Given the description of an element on the screen output the (x, y) to click on. 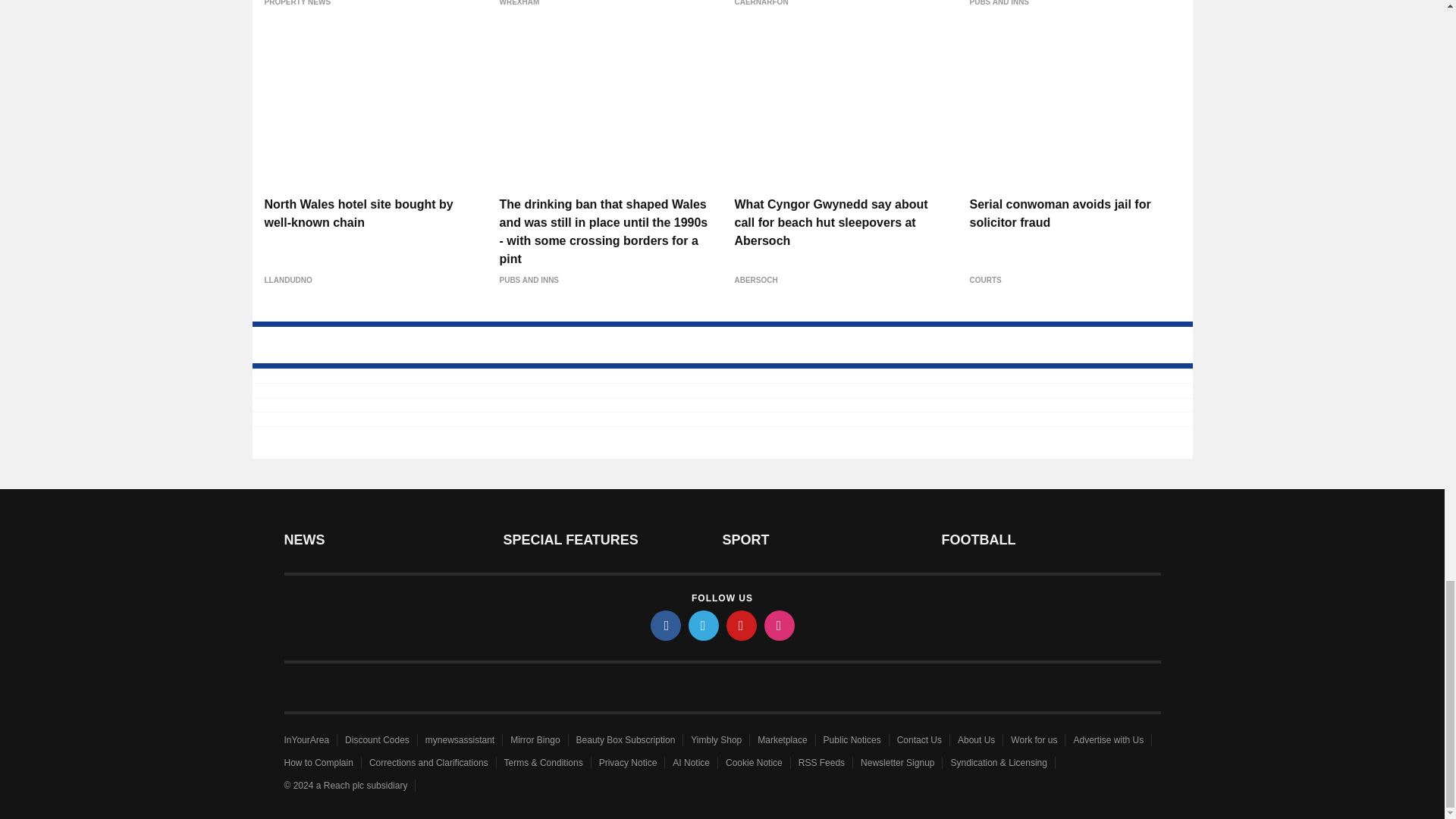
pinterest (741, 625)
facebook (665, 625)
instagram (779, 625)
twitter (703, 625)
